Given the description of an element on the screen output the (x, y) to click on. 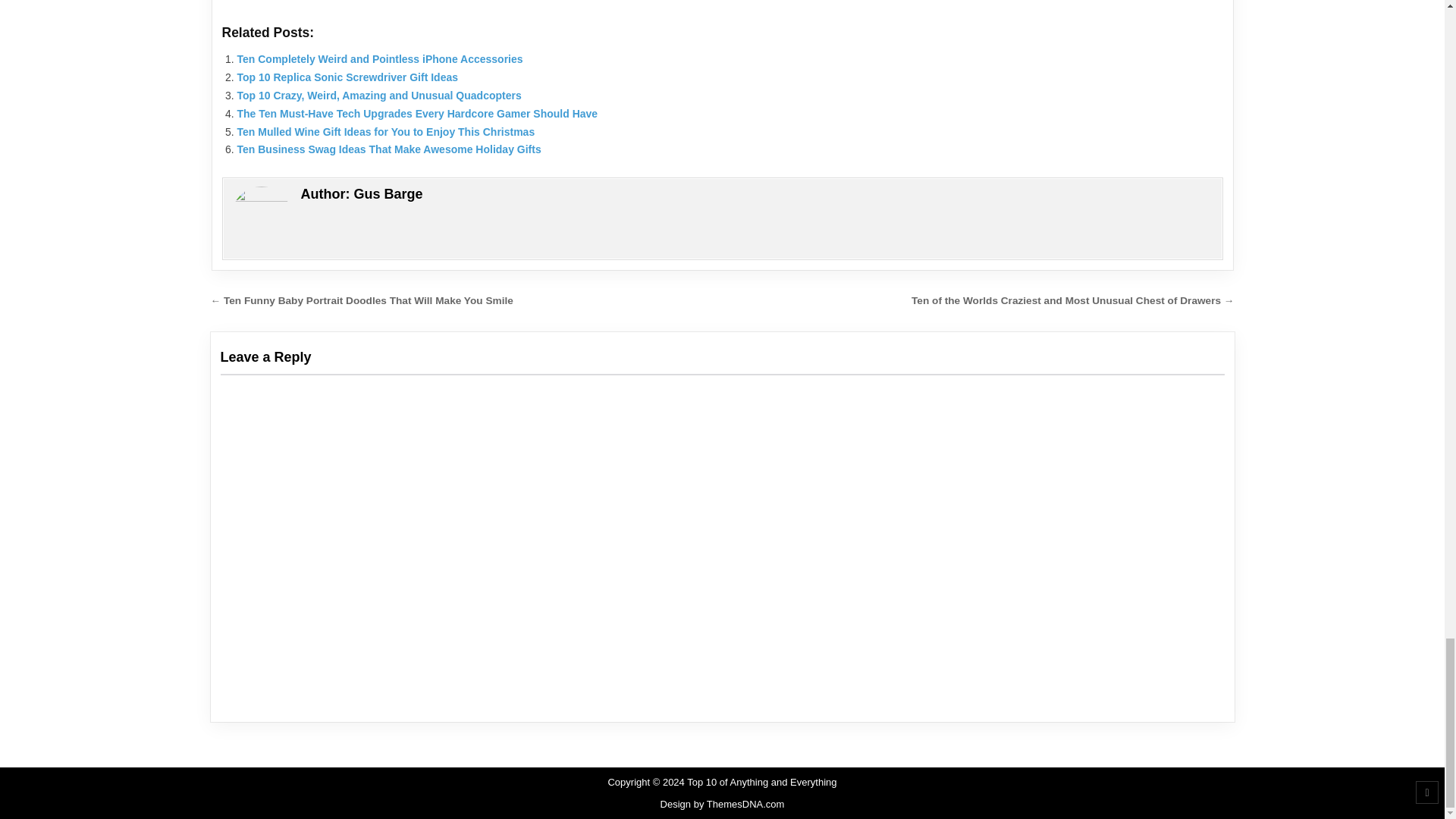
Top 10 Crazy, Weird, Amazing and Unusual Quadcopters (378, 95)
Ten Completely Weird and Pointless iPhone Accessories (378, 59)
Top 10 Replica Sonic Screwdriver Gift Ideas (346, 77)
